Given the description of an element on the screen output the (x, y) to click on. 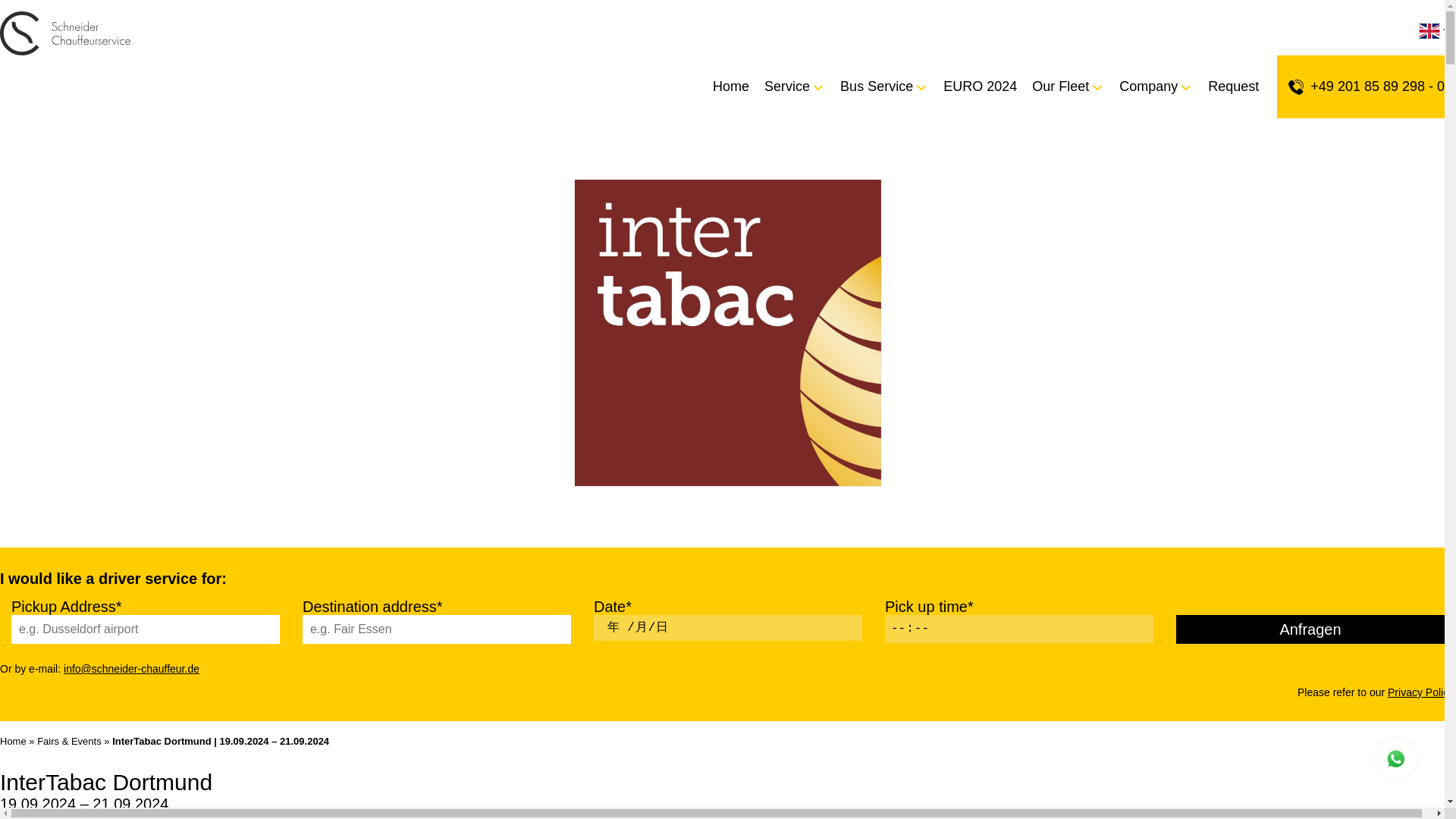
Company (1147, 86)
Service (787, 86)
Privacy Policy (1420, 692)
Bus Service (876, 86)
Our Fleet (1059, 86)
Anfragen (1310, 629)
EURO 2024 (972, 86)
